Given the description of an element on the screen output the (x, y) to click on. 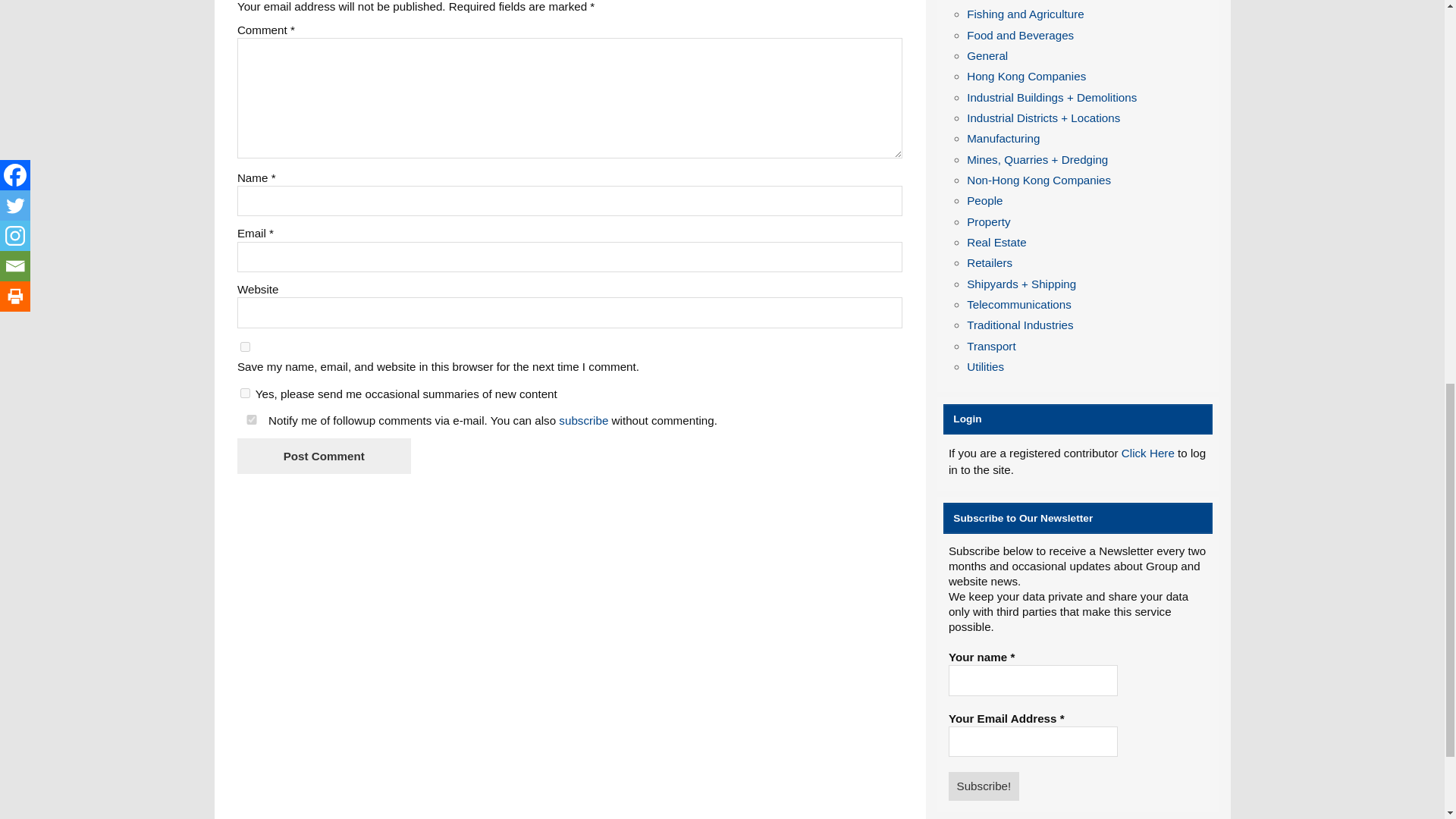
yes (245, 347)
1 (245, 393)
Post Comment (323, 456)
yes (251, 419)
subscribe (583, 420)
Post Comment (323, 456)
Subscribe! (984, 786)
